Given the description of an element on the screen output the (x, y) to click on. 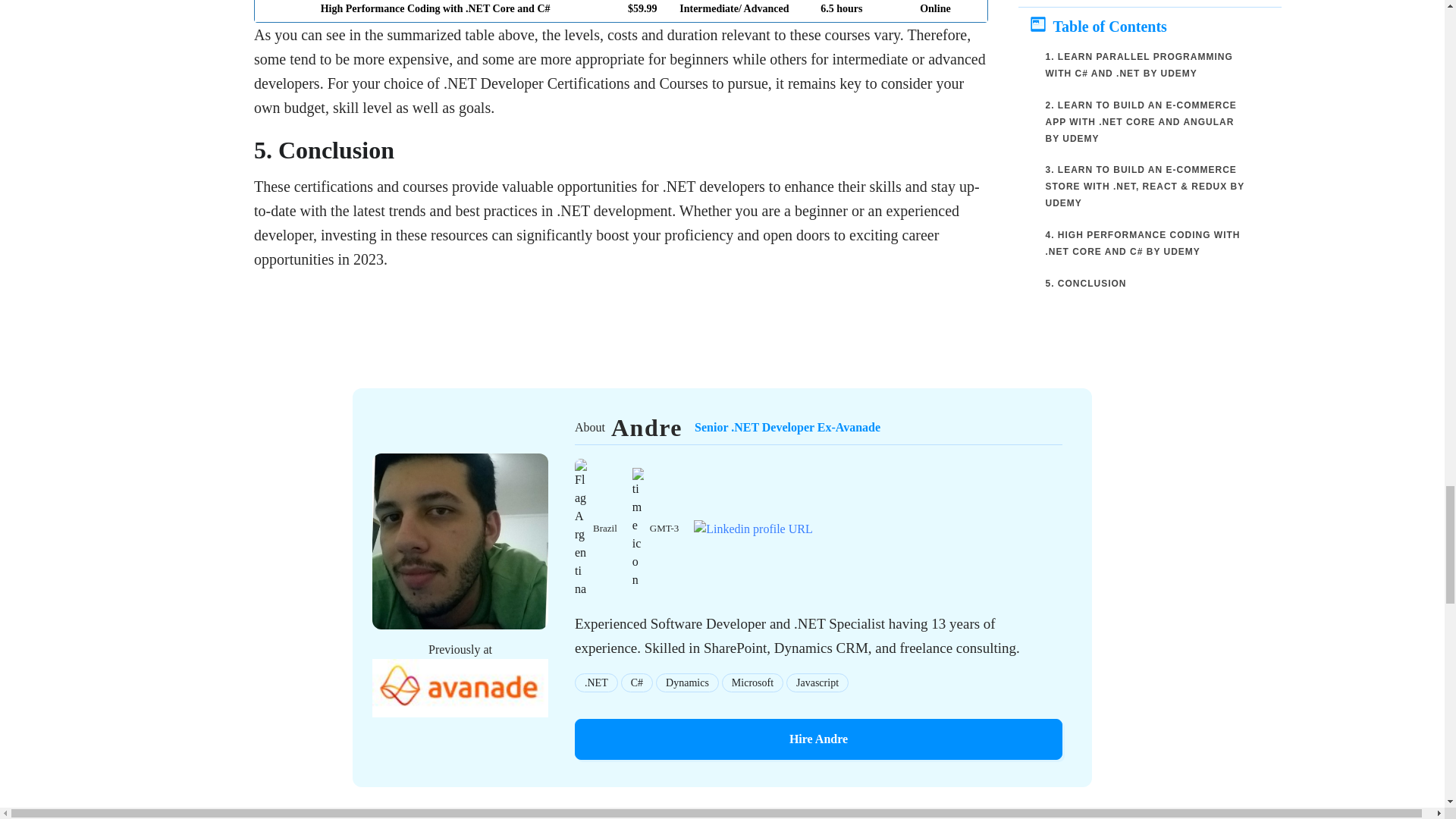
Javascript (817, 682)
Hire Andre (818, 739)
Dynamics (818, 428)
Microsoft (687, 682)
.NET (752, 682)
